Given the description of an element on the screen output the (x, y) to click on. 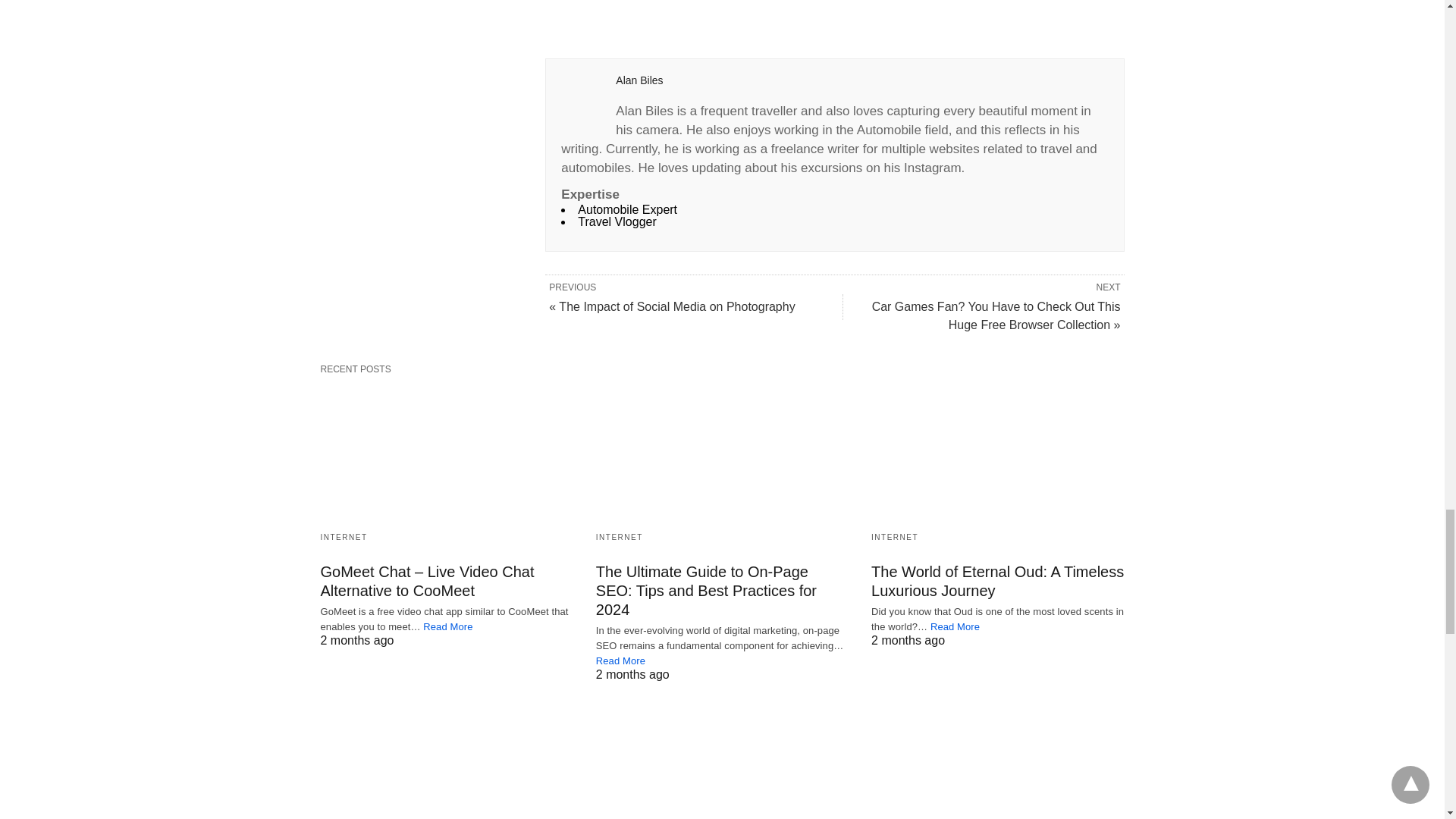
Alan Biles (638, 80)
AddThis Website Tools (665, 26)
Alan Biles (638, 80)
Read More (447, 626)
INTERNET (343, 537)
